Given the description of an element on the screen output the (x, y) to click on. 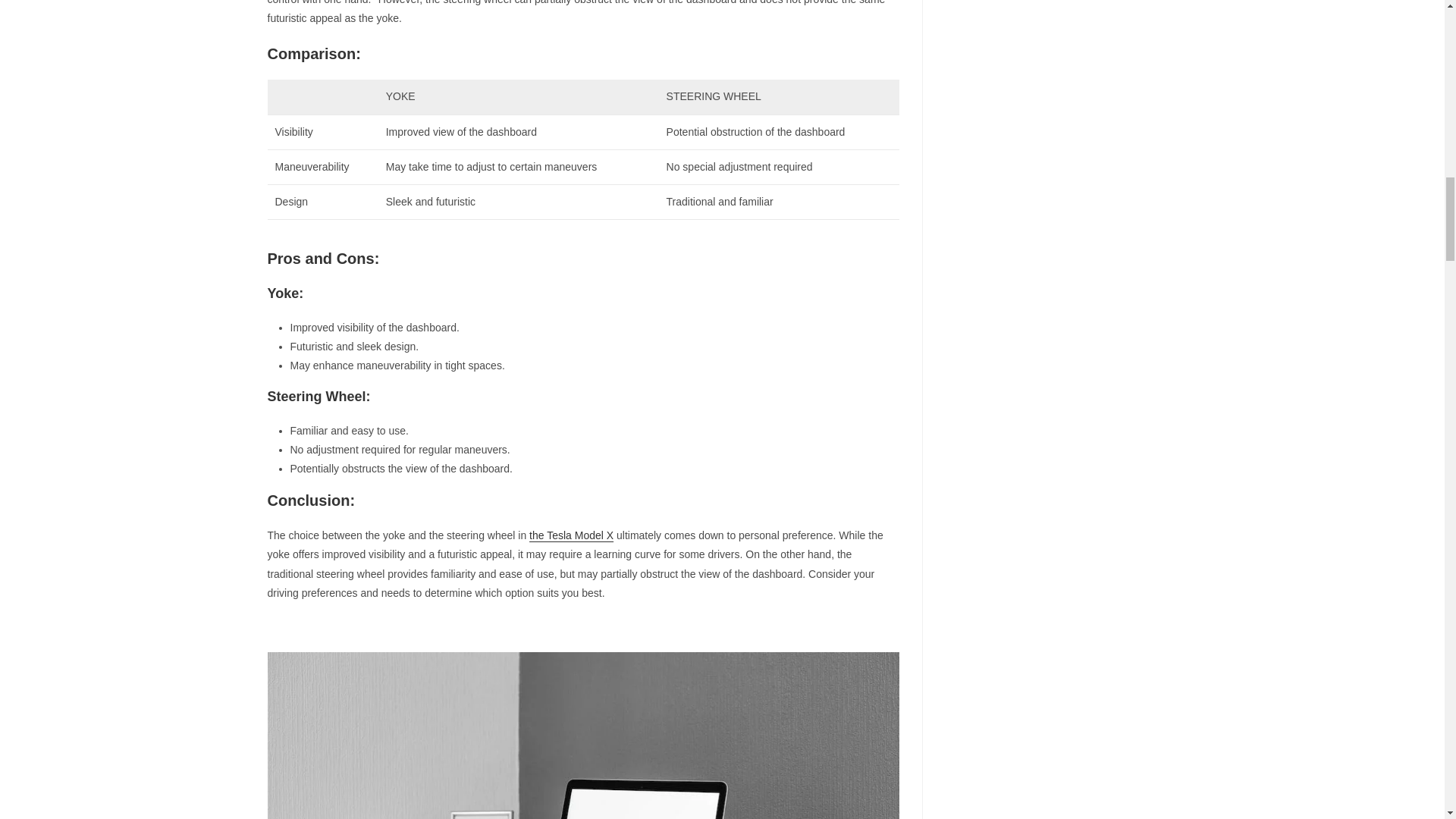
Tesla Model X Yoke vs Steering Wheel (582, 735)
the Tesla Model X (570, 535)
